Given the description of an element on the screen output the (x, y) to click on. 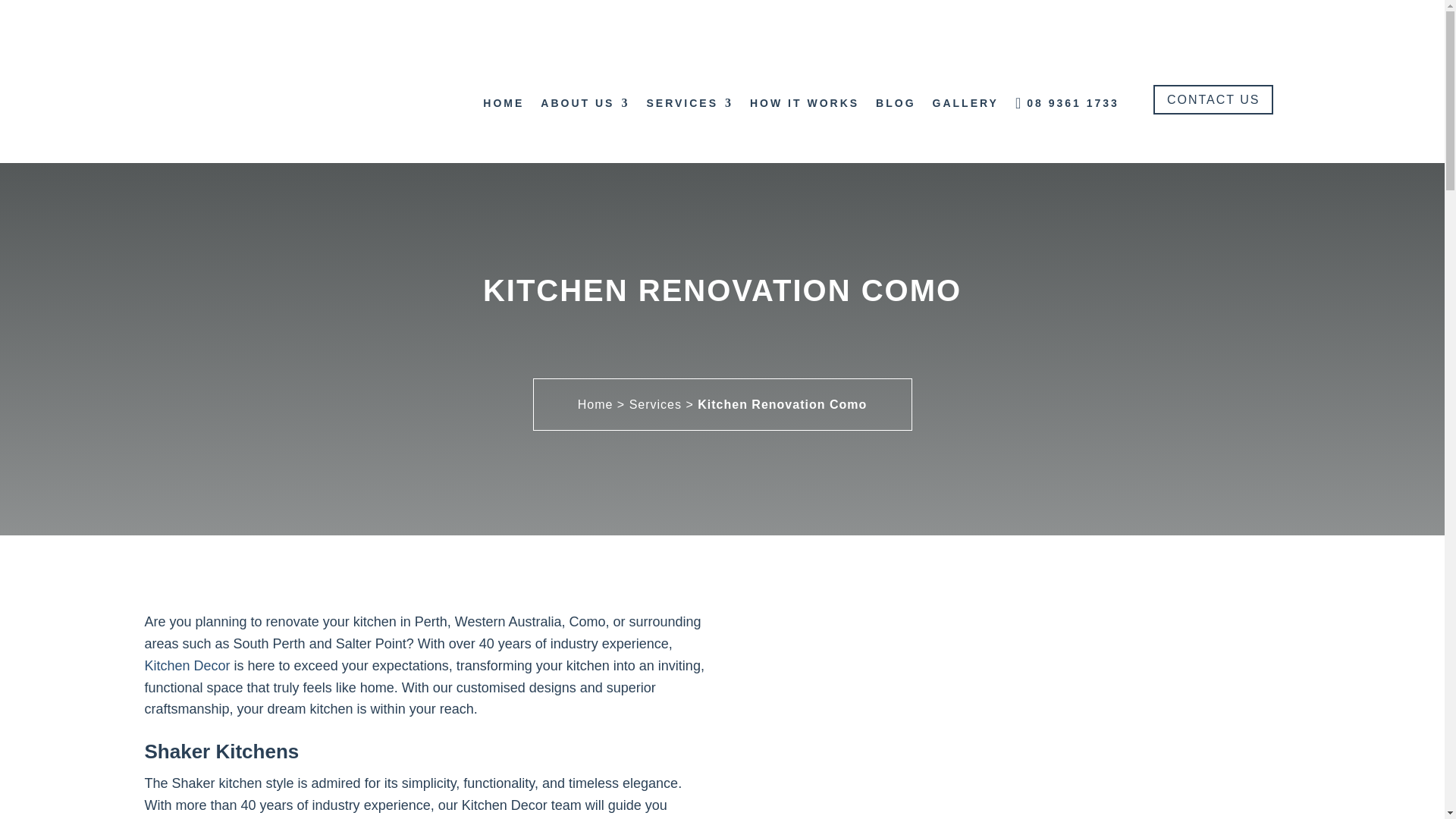
Home (595, 404)
Services (654, 404)
HOW IT WORKS (804, 103)
Kitchen Decor (187, 665)
CONTACT US (1213, 99)
GALLERY (965, 103)
ABOUT US (584, 103)
SERVICES (689, 103)
